Given the description of an element on the screen output the (x, y) to click on. 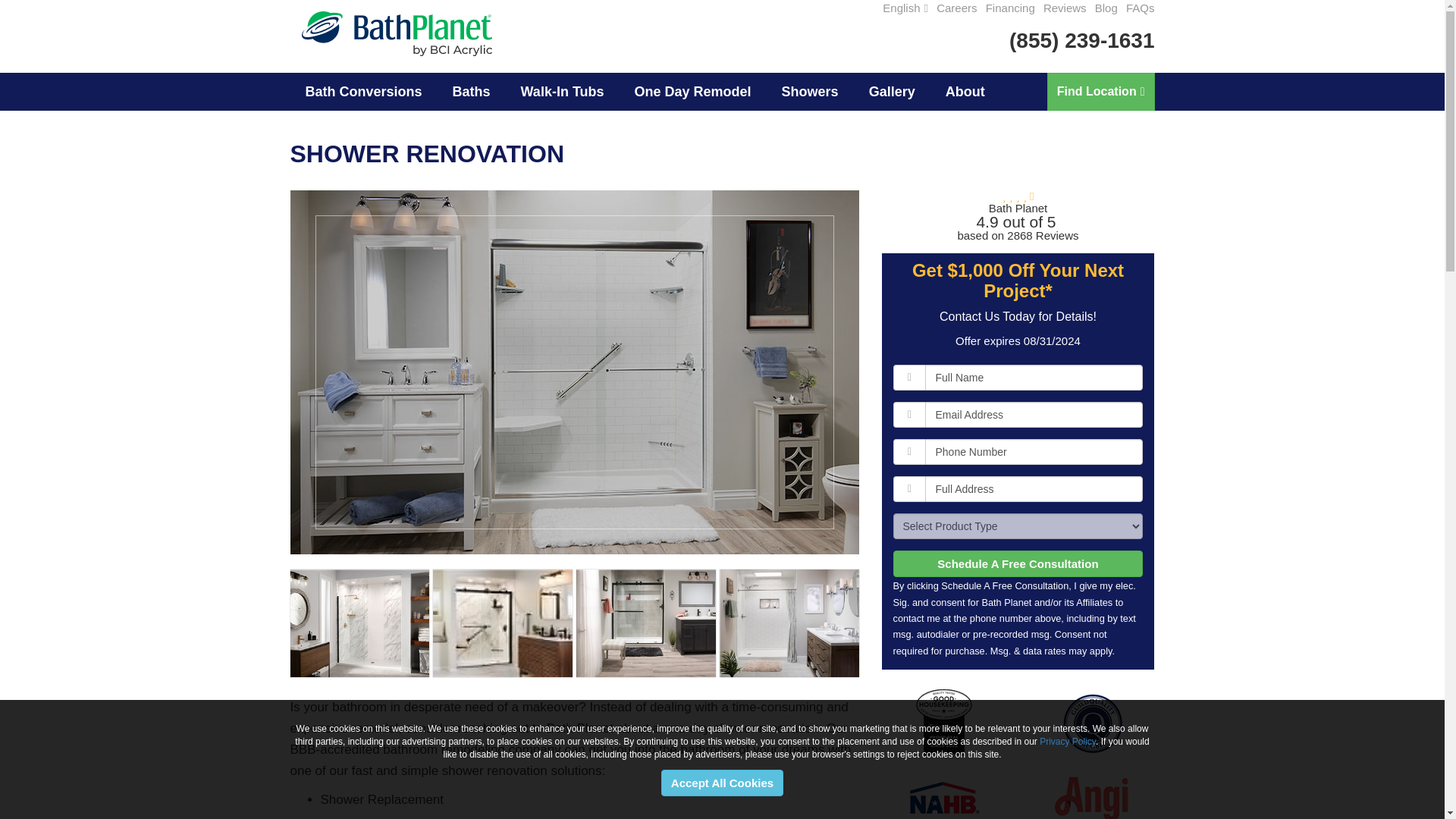
Bath Conversions (362, 91)
Walk-In Tubs (562, 91)
Baths (471, 91)
Careers (956, 7)
FAQs (1139, 7)
Blog (1106, 7)
English (905, 7)
Financing (1010, 7)
Showers (810, 91)
One Day Remodel (693, 91)
Reviews (1064, 7)
